Given the description of an element on the screen output the (x, y) to click on. 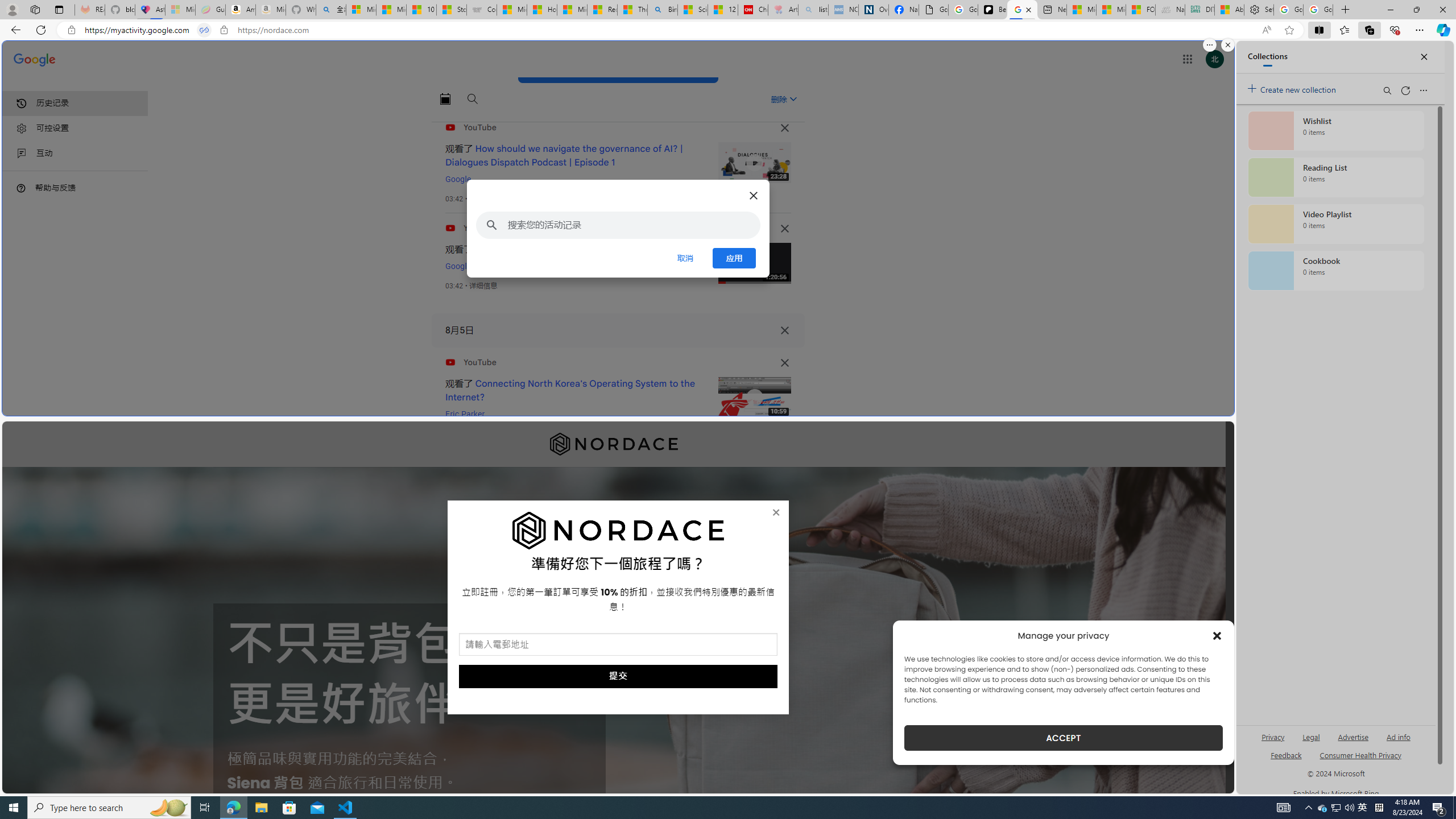
Bing (662, 9)
ACCEPT (1063, 737)
Class: i2GIId (21, 153)
Eric Parker (464, 414)
AutomationID: genId96 (1285, 759)
